Given the description of an element on the screen output the (x, y) to click on. 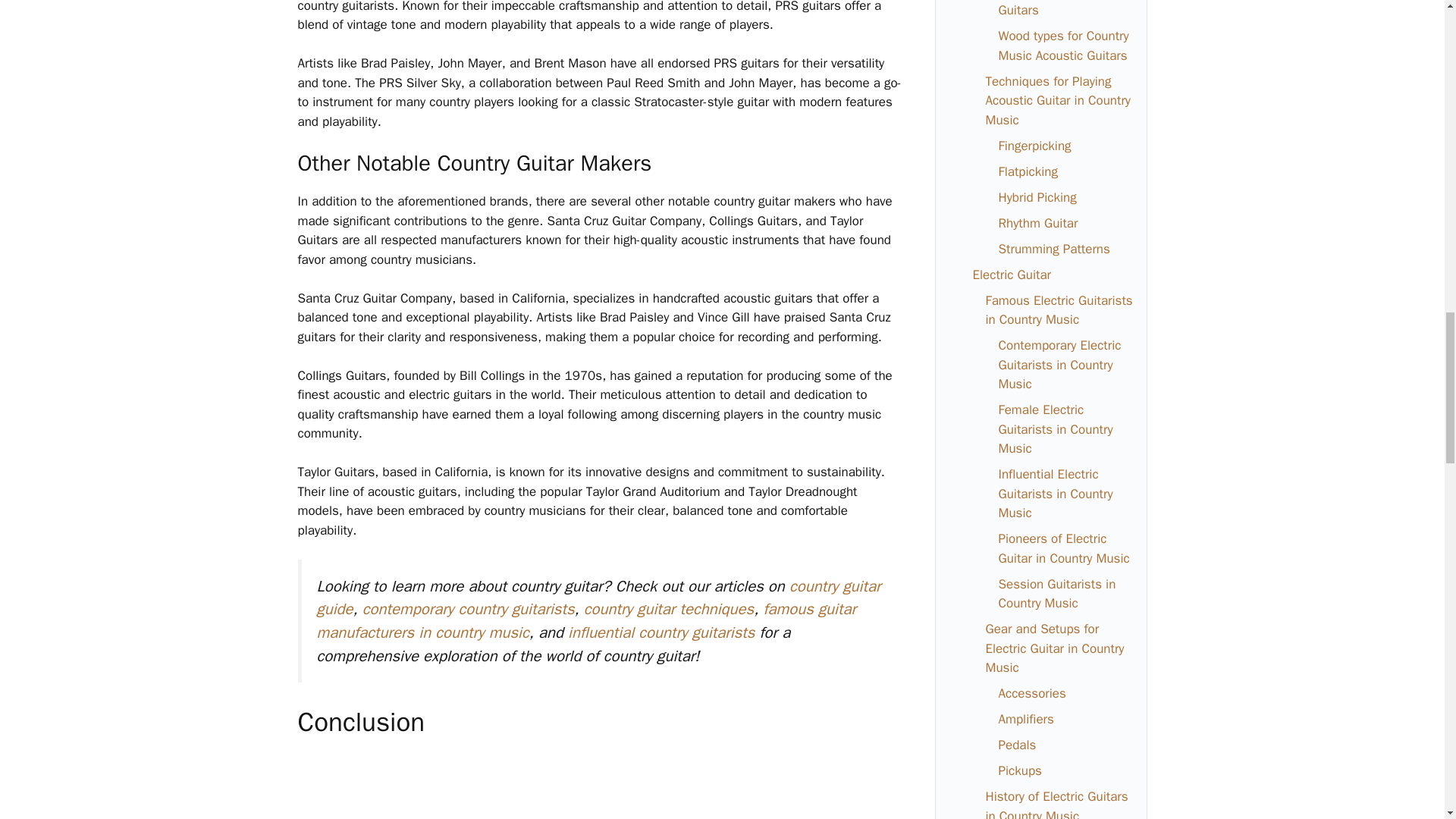
country guitar techniques (668, 608)
famous guitar manufacturers in country music (586, 620)
influential country guitarists (660, 632)
country guitar guide (598, 597)
contemporary country guitarists (468, 608)
